Given the description of an element on the screen output the (x, y) to click on. 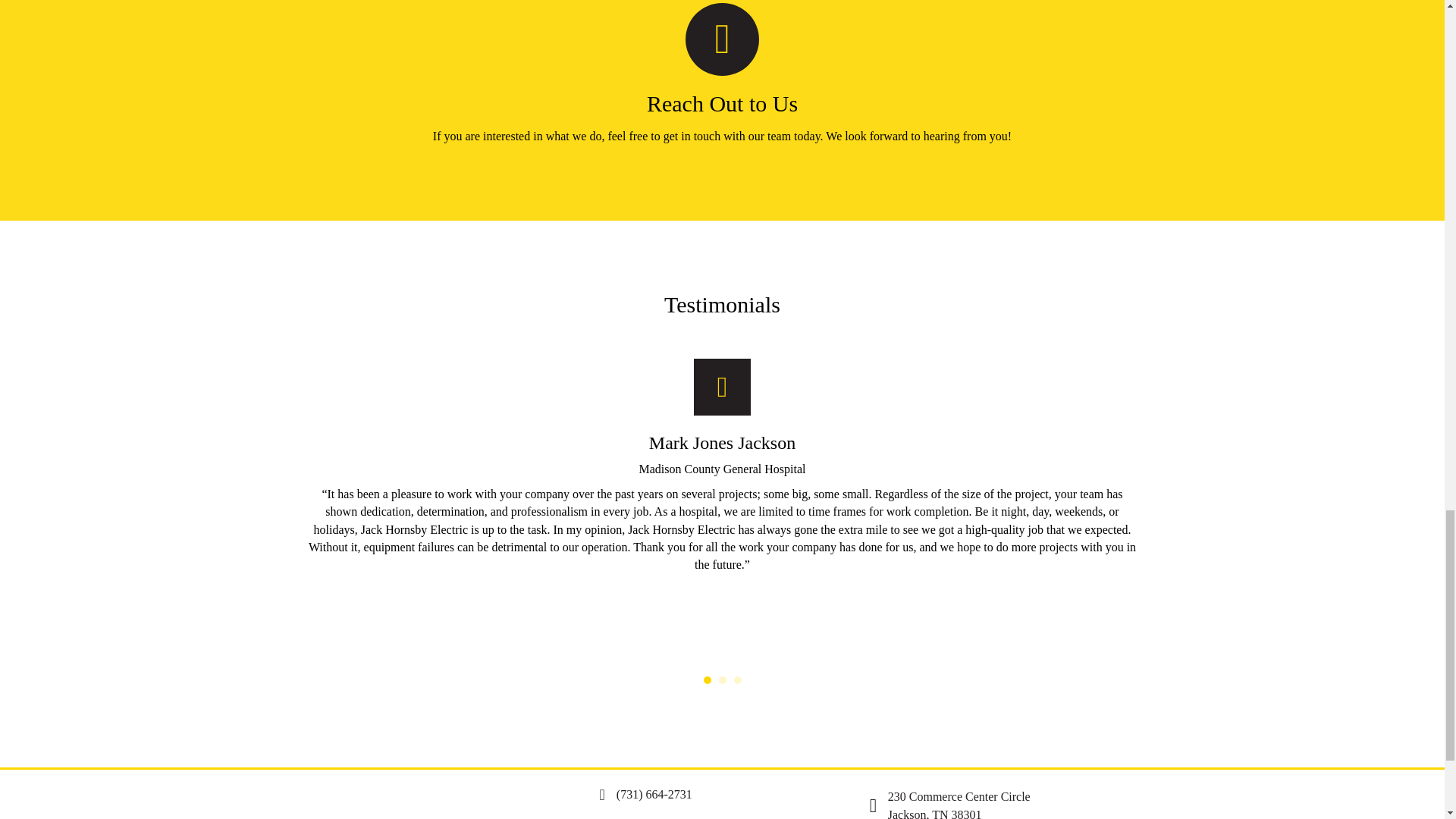
2 (722, 679)
3 (737, 679)
1 (707, 679)
